Given the description of an element on the screen output the (x, y) to click on. 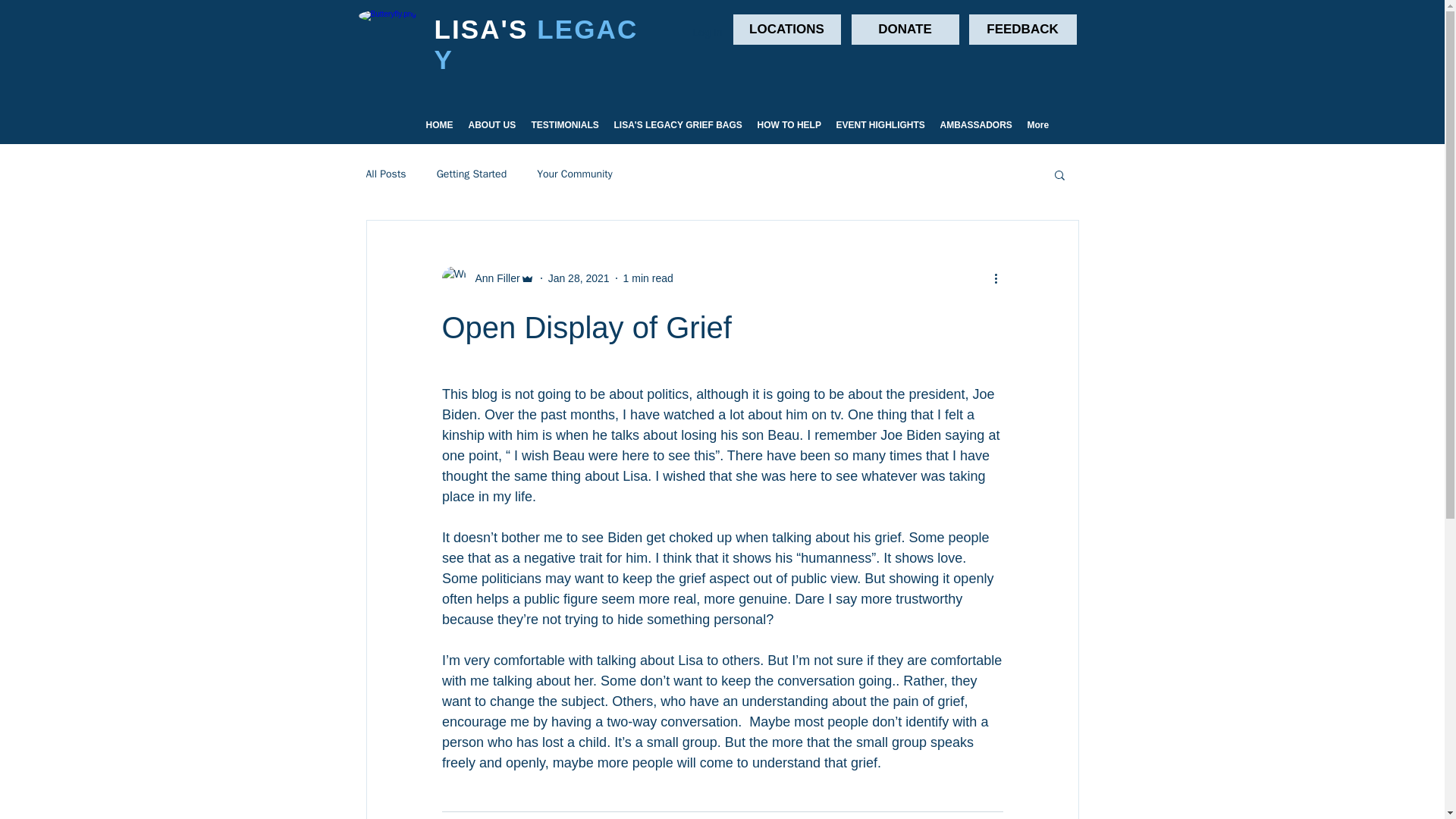
Jan 28, 2021 (579, 277)
FEEDBACK (1023, 29)
DONATE (904, 29)
AMBASSADORS (976, 125)
Your Community (574, 173)
EVENT HIGHLIGHTS (879, 125)
LISA'S LEGACY (535, 44)
Log In (707, 33)
Ann Filler (487, 278)
TESTIMONIALS (563, 125)
